Given the description of an element on the screen output the (x, y) to click on. 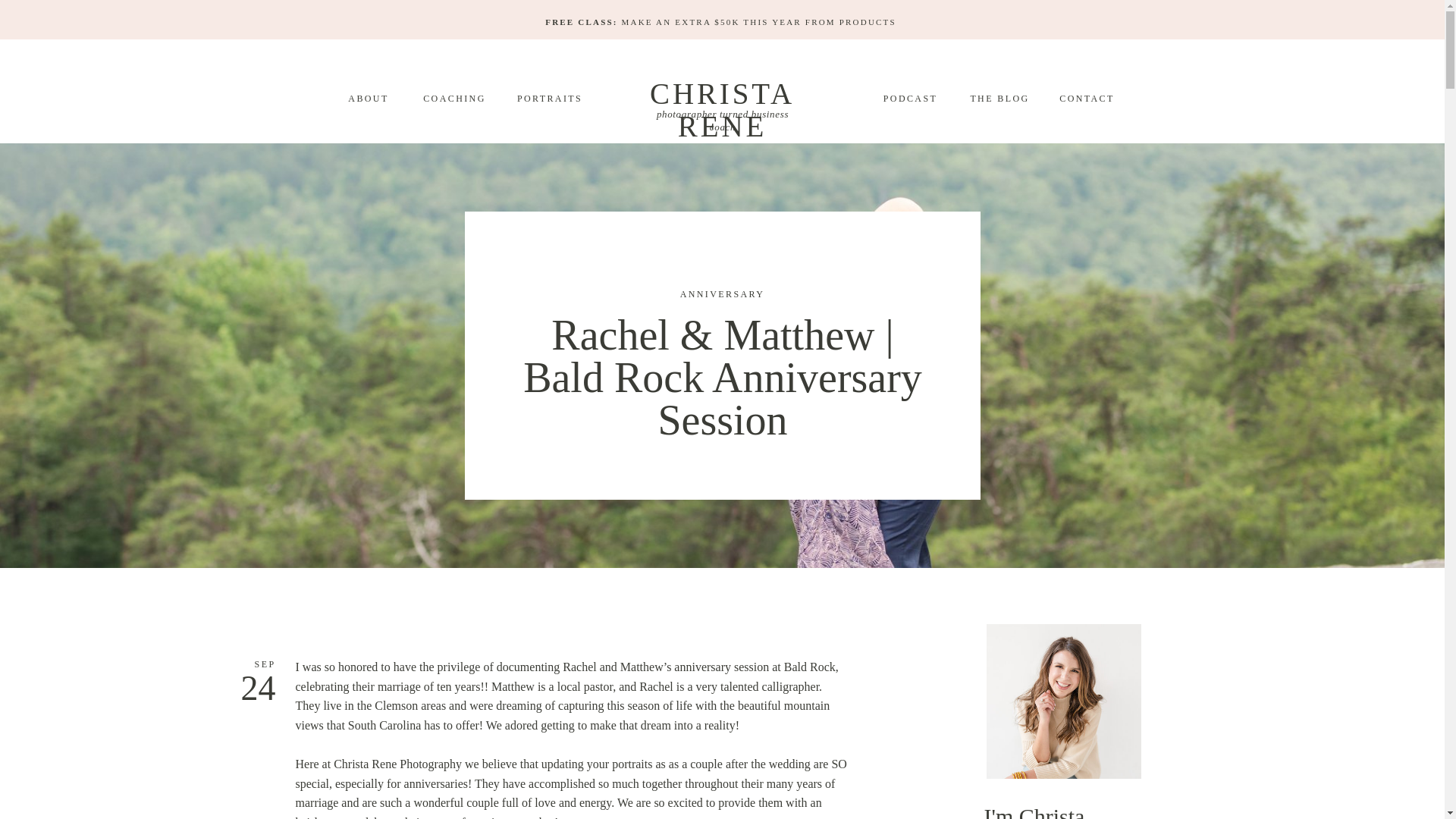
CHRISTA RENE (721, 94)
ABOUT (368, 97)
COACHING (453, 97)
ANNIVERSARY (722, 294)
PODCAST (909, 97)
THE BLOG (998, 97)
photographer turned business coach (722, 112)
CONTACT (1086, 97)
PORTRAITS (549, 97)
